Given the description of an element on the screen output the (x, y) to click on. 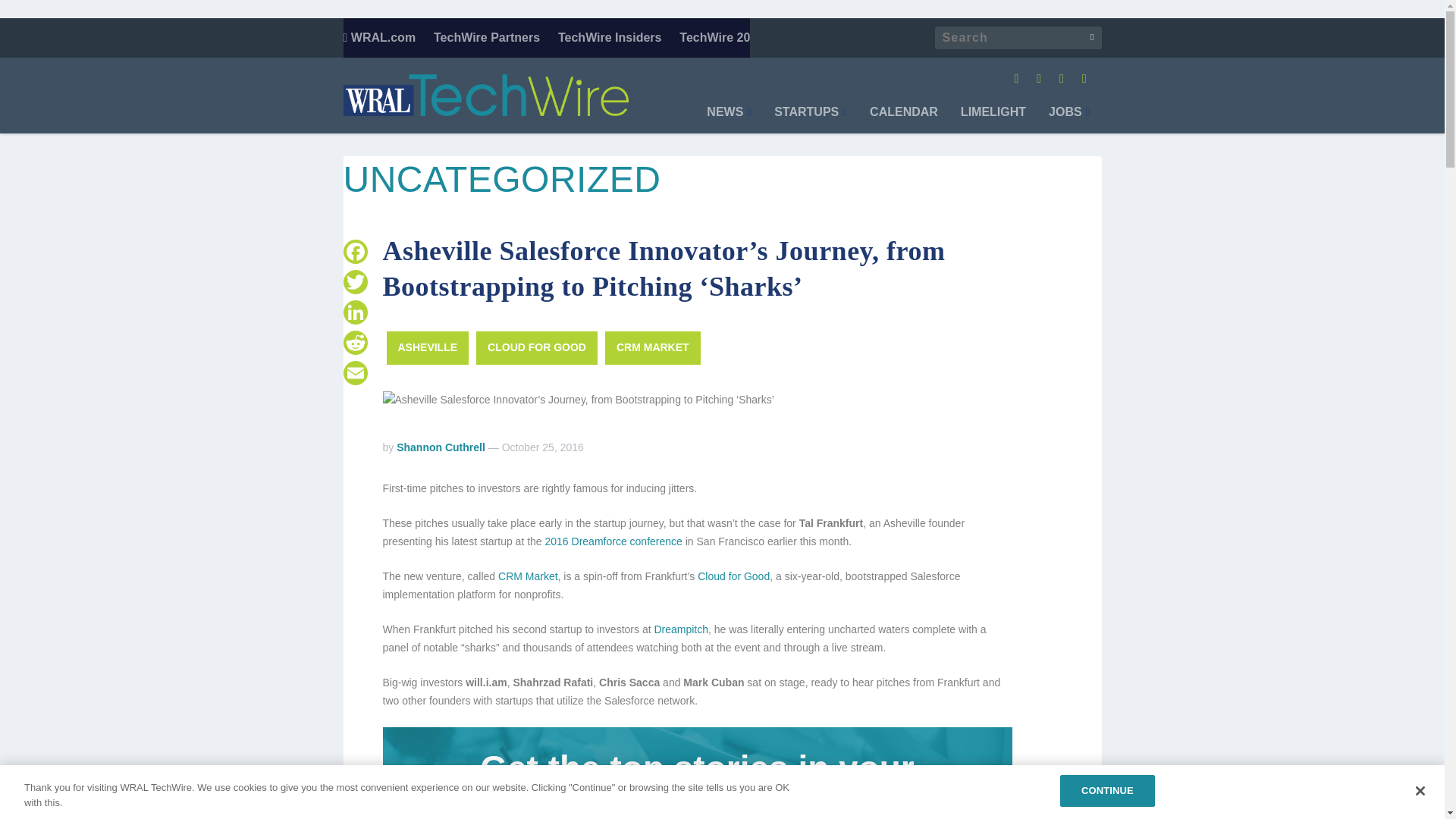
NEWS (728, 119)
Reddit (354, 342)
CALENDAR (903, 119)
LIMELIGHT (993, 119)
TechWire Partners (486, 37)
LinkedIn (354, 312)
STARTUPS (810, 119)
Facebook (354, 251)
WRAL.com (378, 37)
Search for: (1017, 37)
TechWire Insiders (609, 37)
JOBS (1068, 119)
TechWire 20 (714, 37)
Twitter (354, 281)
Email (354, 372)
